Given the description of an element on the screen output the (x, y) to click on. 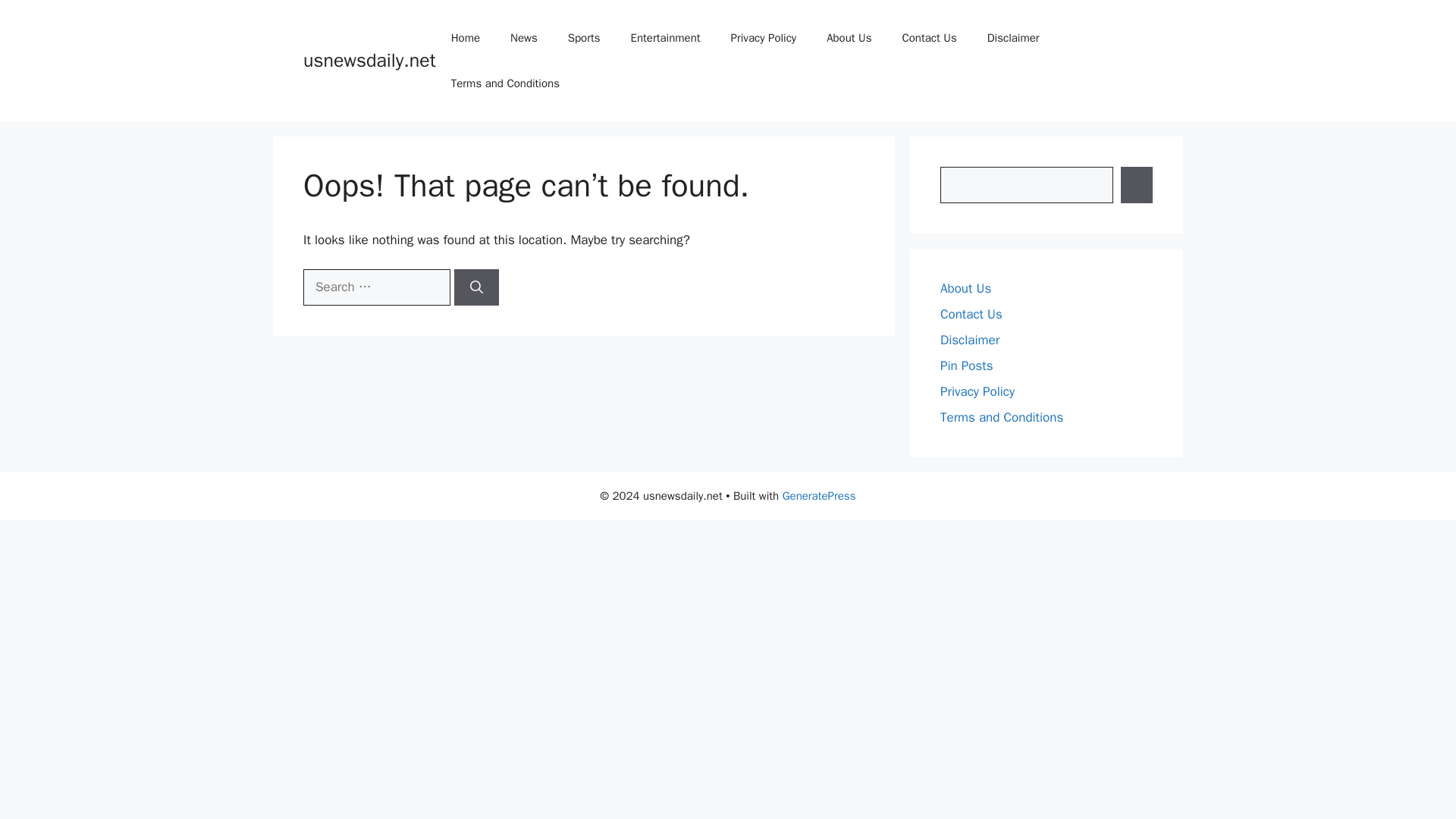
Contact Us (971, 314)
News (524, 37)
GeneratePress (819, 495)
Entertainment (665, 37)
Contact Us (928, 37)
Disclaimer (1013, 37)
Terms and Conditions (505, 83)
Home (465, 37)
Pin Posts (966, 365)
Privacy Policy (764, 37)
